Given the description of an element on the screen output the (x, y) to click on. 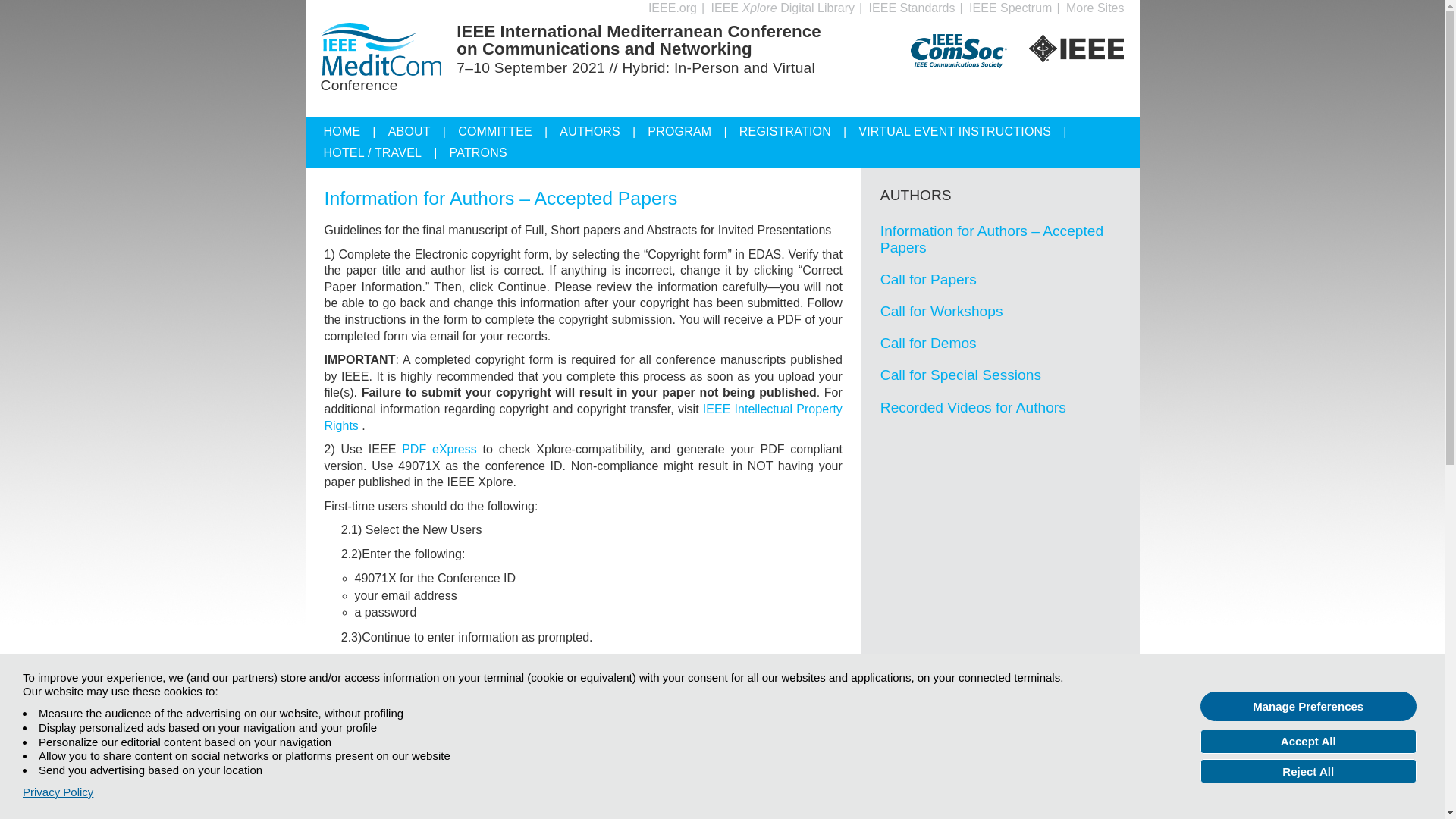
Registration (799, 127)
Virtual Event Instructions (968, 127)
HOME (355, 127)
Call for Demos (928, 342)
PATRONS (477, 148)
IEEE.org (672, 7)
PROGRAM (692, 127)
Authors (603, 127)
About (423, 127)
Home (355, 127)
REGISTRATION (799, 127)
Manage Preferences (1307, 706)
COMMITTEE (508, 127)
IEEE Spectrum (1010, 7)
IEEE Standards (912, 7)
